Given the description of an element on the screen output the (x, y) to click on. 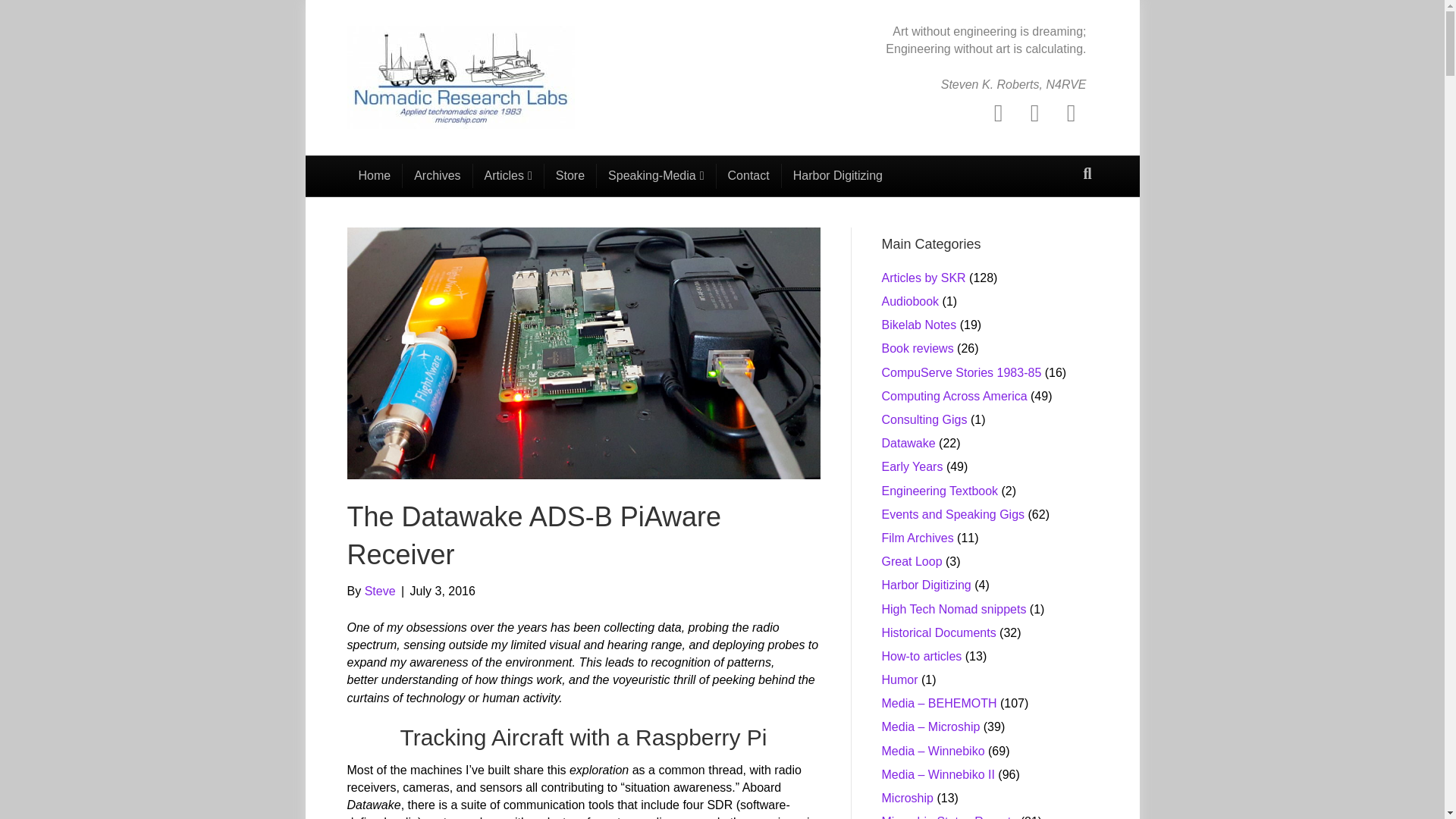
Youtube (1070, 112)
Archives (437, 175)
Twitter (1034, 112)
Speaking-Media (656, 176)
Articles (508, 176)
Home (375, 175)
Store (570, 175)
Facebook (997, 112)
